Given the description of an element on the screen output the (x, y) to click on. 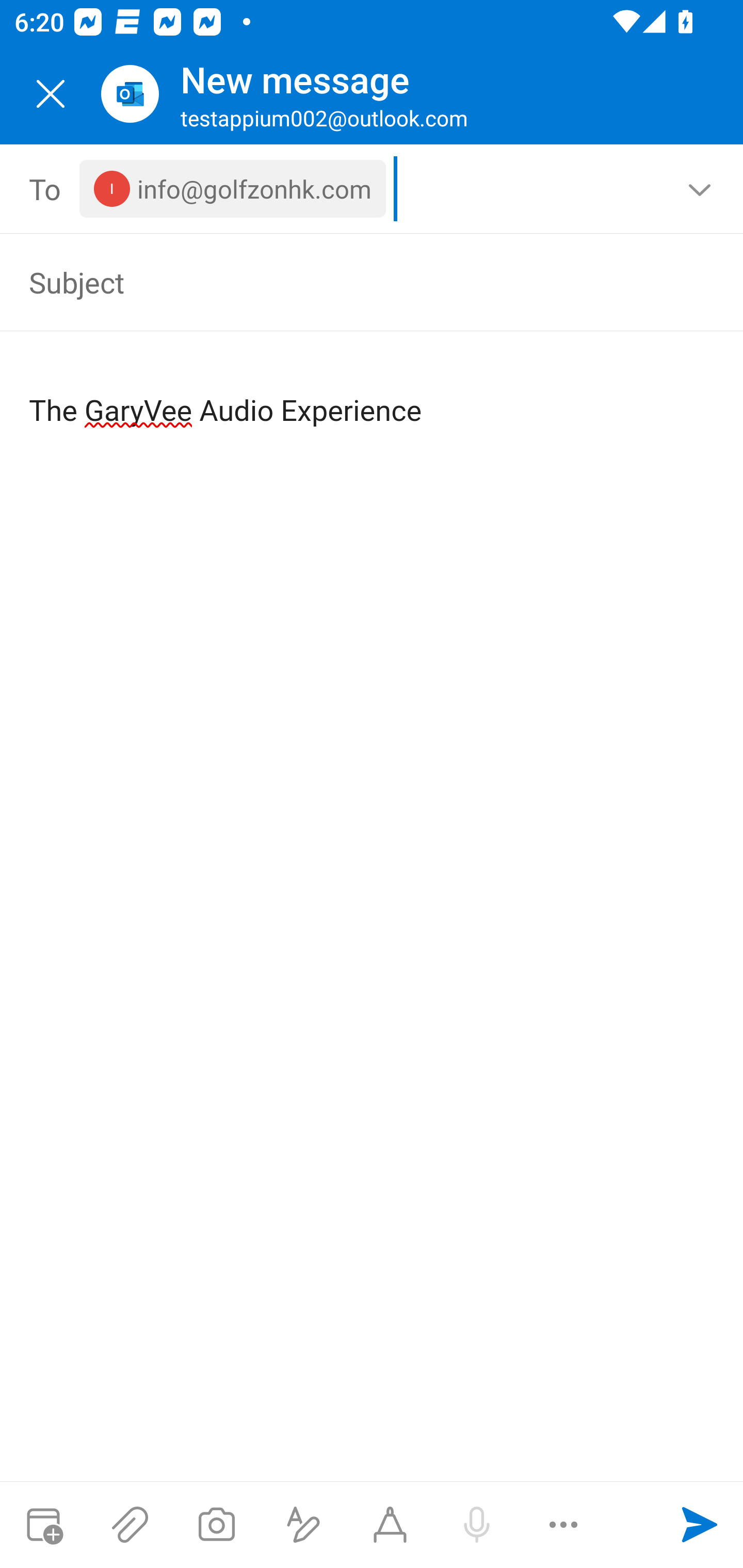
Close (50, 93)
Subject (342, 281)

The GaryVee Audio Experience (372, 394)
Attach meeting (43, 1524)
Attach files (129, 1524)
Take a photo (216, 1524)
Show formatting options (303, 1524)
Start Ink compose (389, 1524)
More options (563, 1524)
Send (699, 1524)
